Given the description of an element on the screen output the (x, y) to click on. 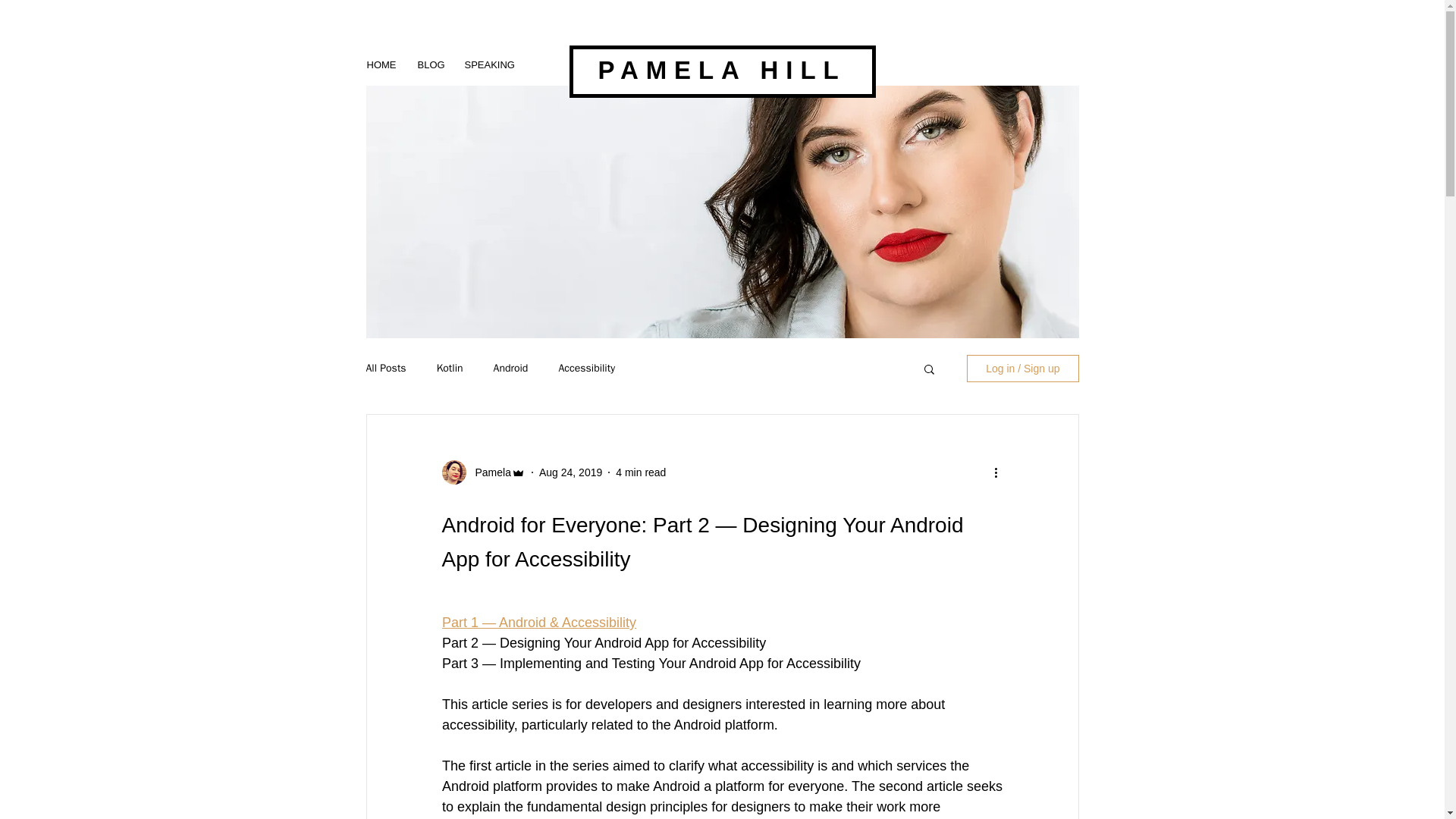
Android (510, 368)
PAMELA HILL (720, 70)
Pamela (488, 471)
All Posts (385, 368)
Kotlin (449, 368)
BLOG (429, 64)
4 min read (640, 471)
Accessibility (585, 368)
HOME (381, 64)
SPEAKING (486, 64)
